Given the description of an element on the screen output the (x, y) to click on. 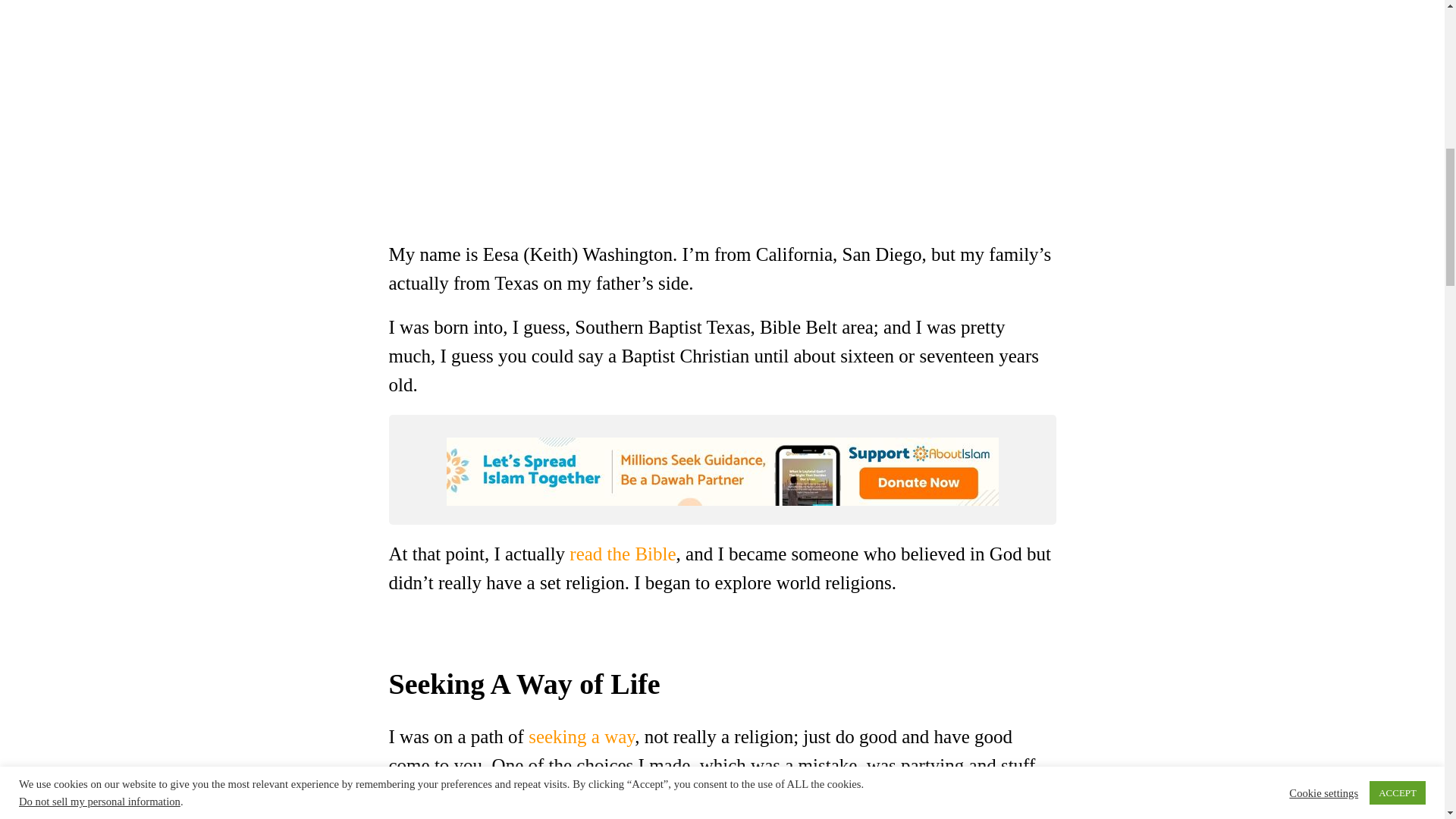
read the Bible (622, 553)
seeking a way (581, 736)
